Given the description of an element on the screen output the (x, y) to click on. 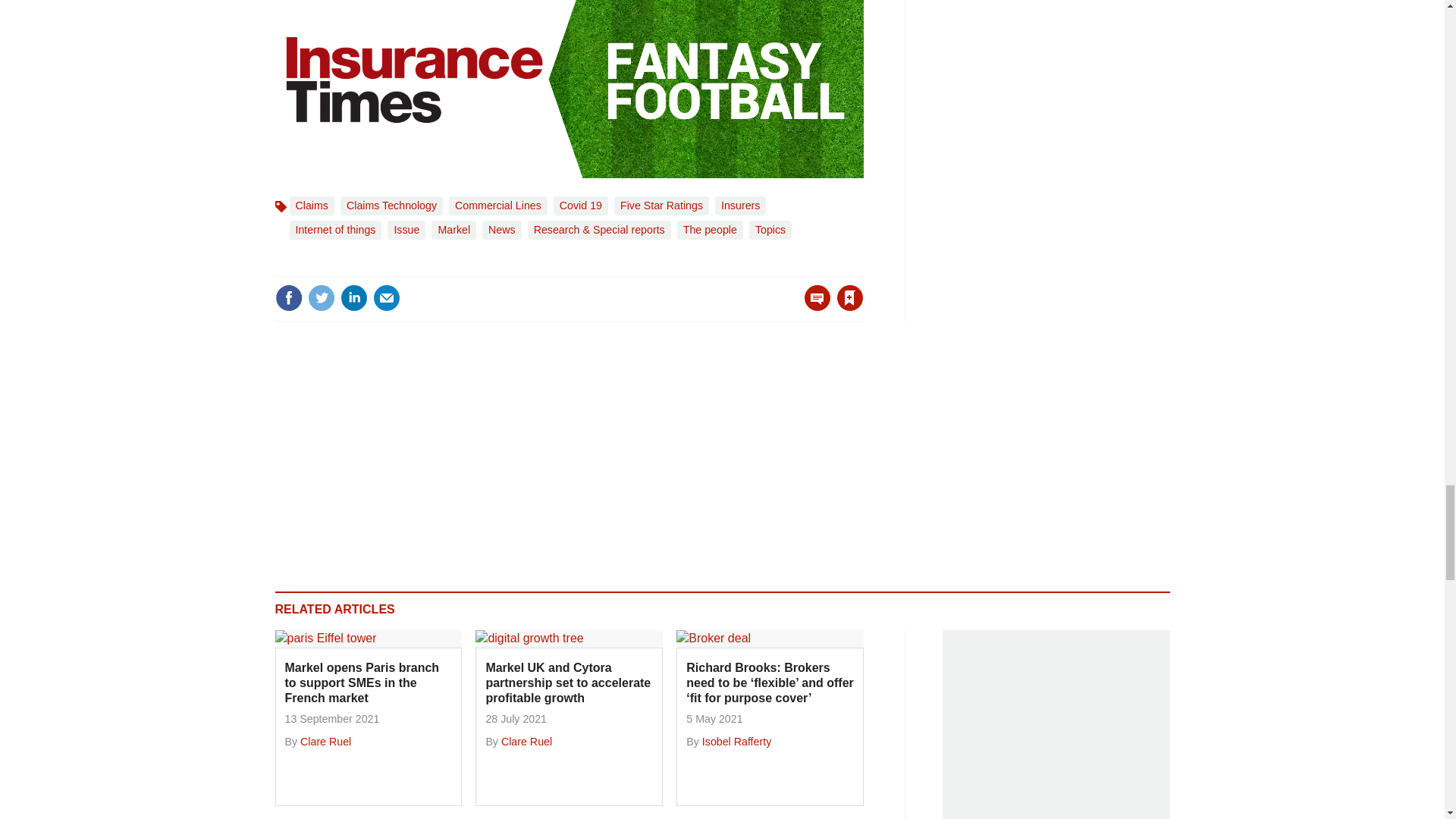
Share this on Facebook (288, 298)
Share this on Linked in (352, 298)
No comments (812, 306)
3rd party ad content (1055, 724)
Email this article (386, 298)
Share this on Twitter (320, 298)
